Given the description of an element on the screen output the (x, y) to click on. 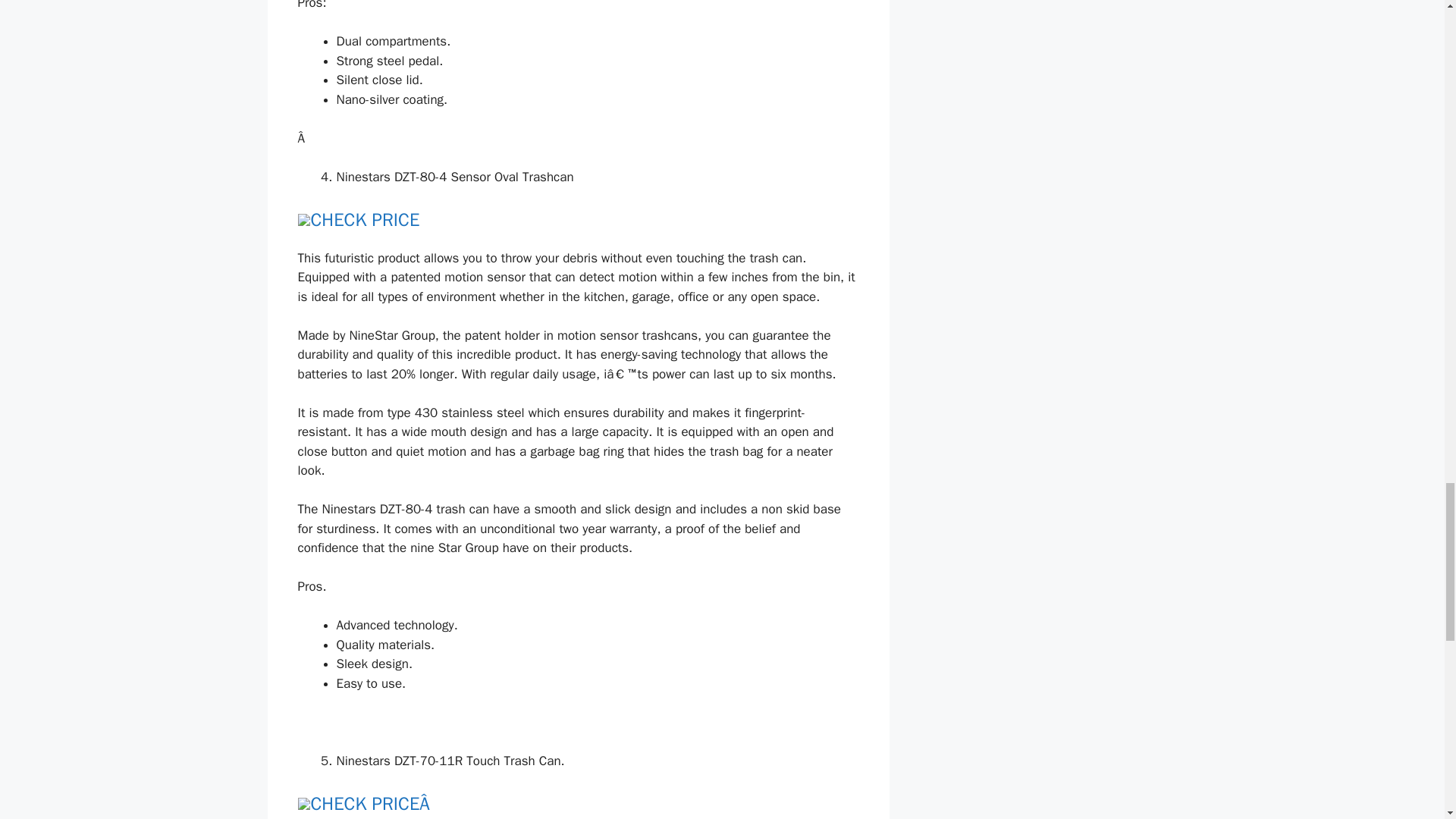
CHECK PRICE (365, 219)
